Given the description of an element on the screen output the (x, y) to click on. 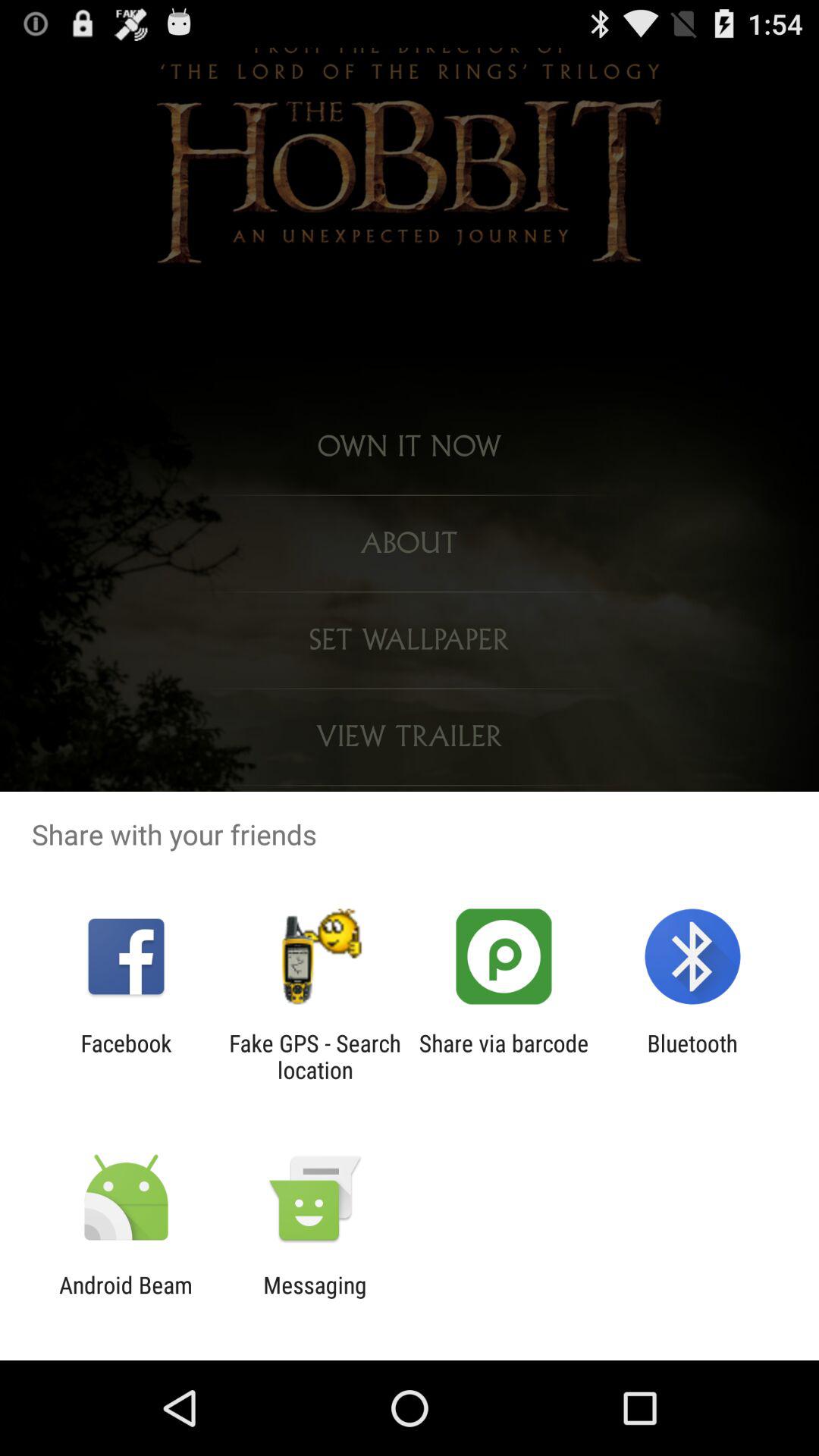
turn off bluetooth item (692, 1056)
